Given the description of an element on the screen output the (x, y) to click on. 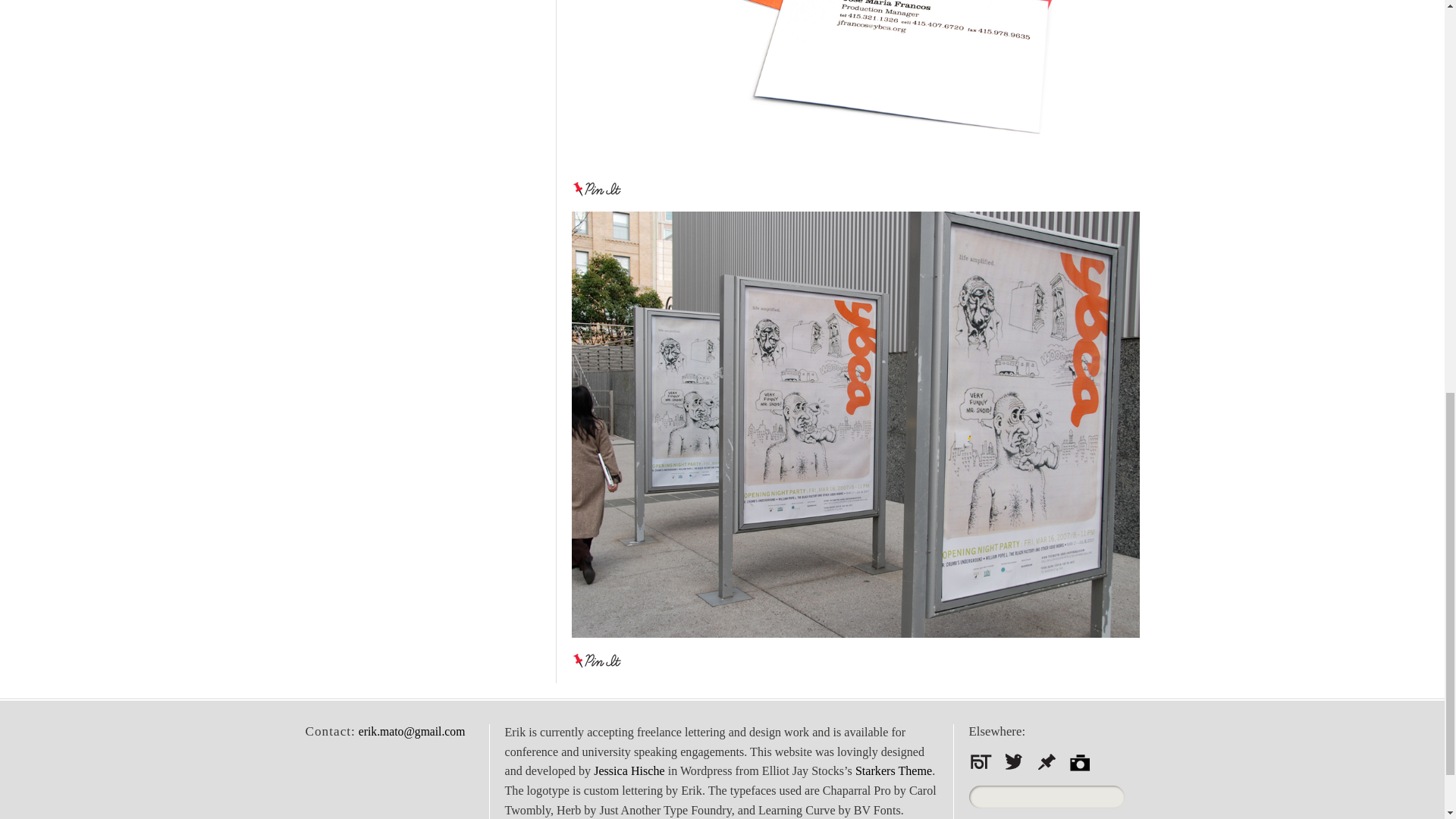
Pin It (597, 660)
Pin It (597, 188)
Jessica Hische (629, 770)
Starkers Theme (893, 770)
